Given the description of an element on the screen output the (x, y) to click on. 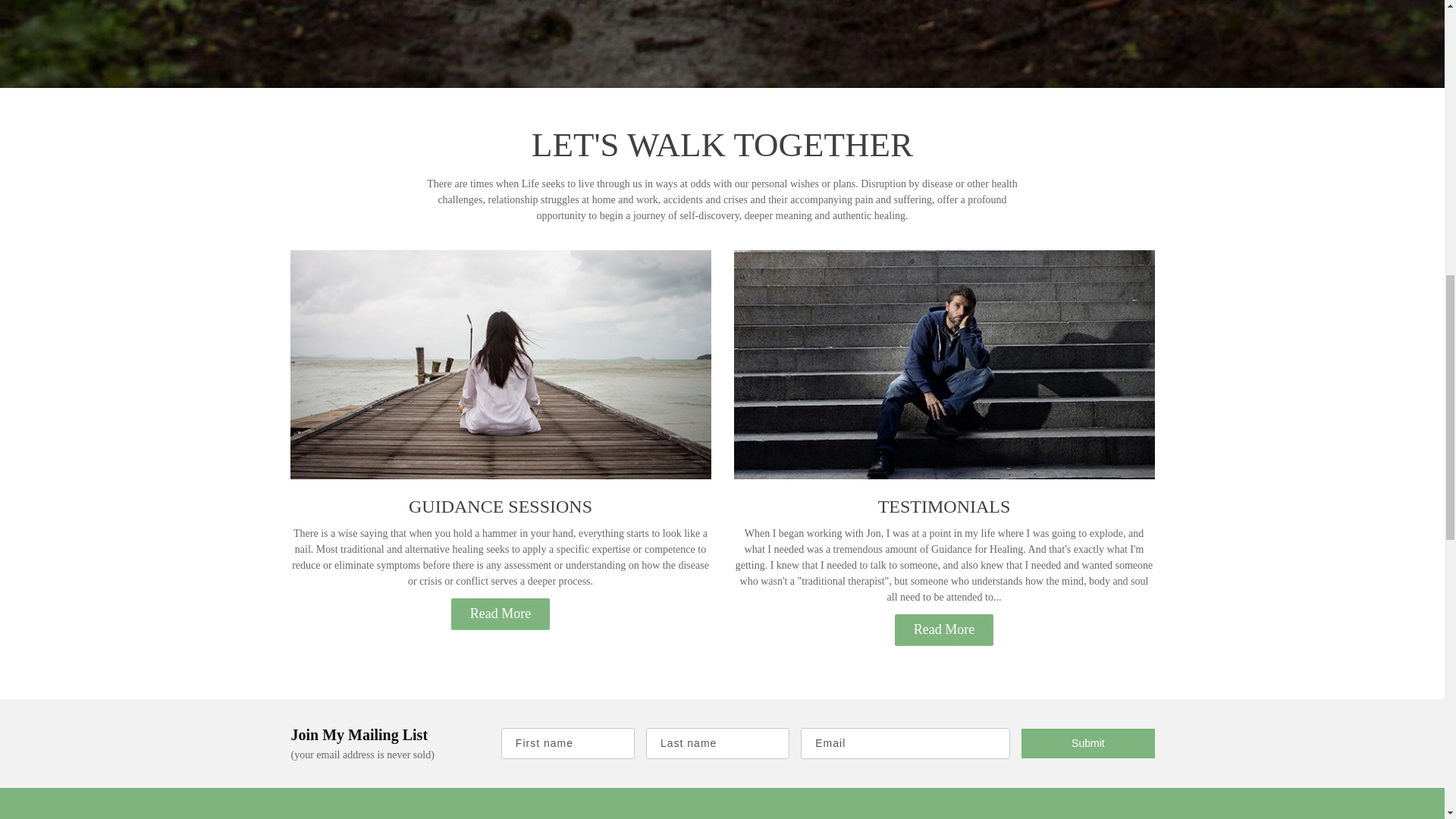
Testimonials (943, 364)
Guidance Sessions (499, 364)
